Given the description of an element on the screen output the (x, y) to click on. 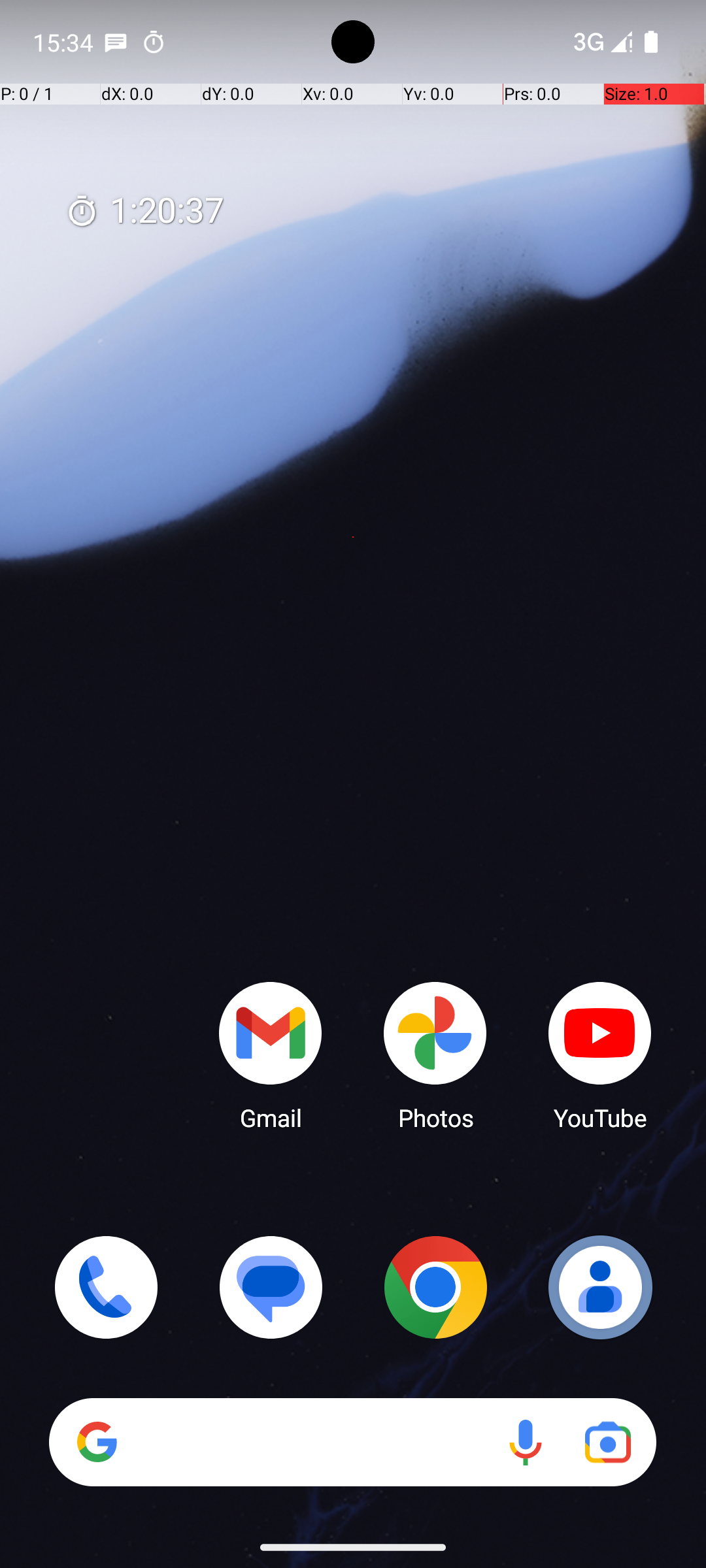
SMS Messenger notification: Freya Hernandez Element type: android.widget.ImageView (115, 41)
